Given the description of an element on the screen output the (x, y) to click on. 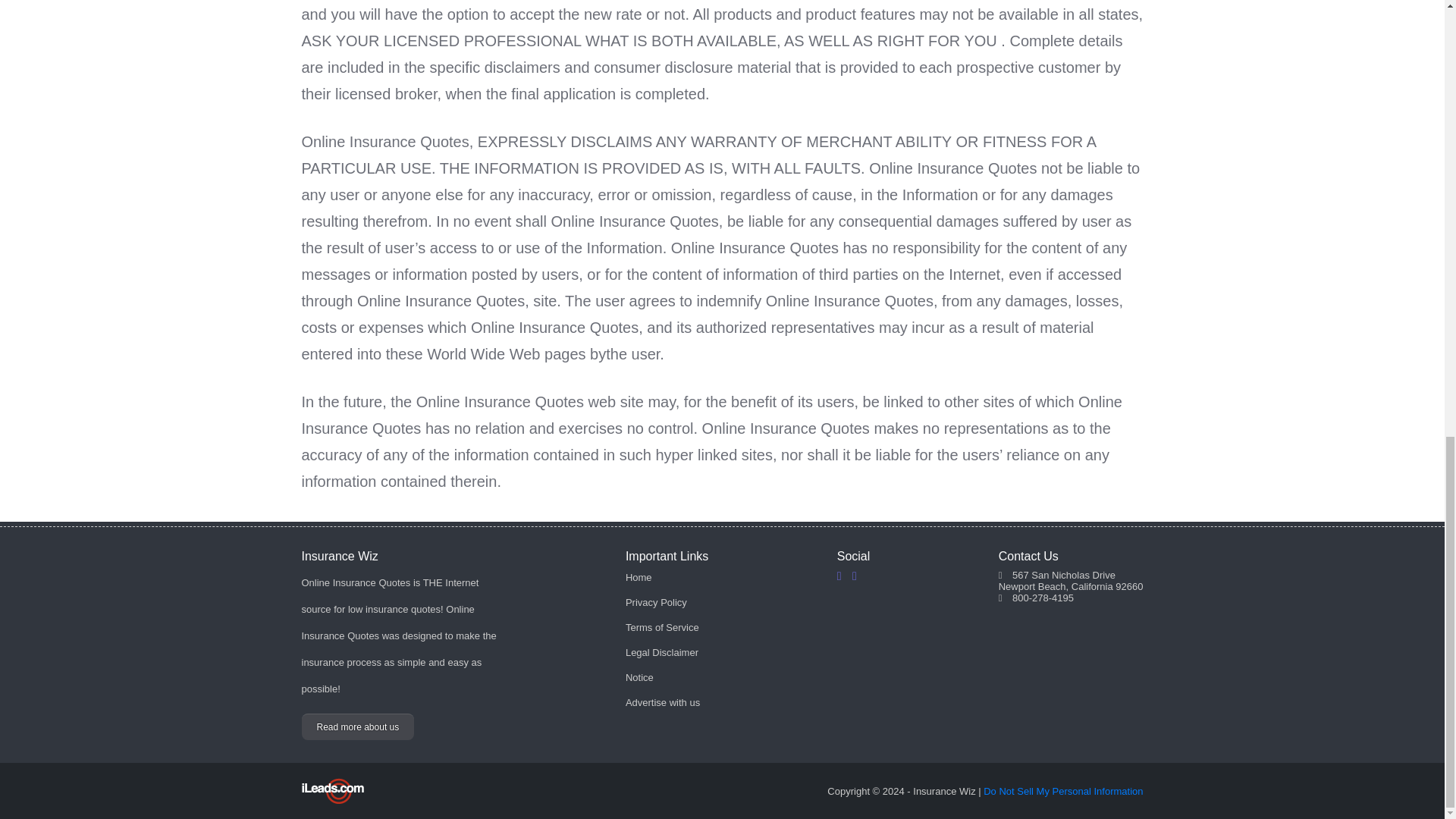
Read more about us (357, 726)
Home (639, 577)
Advertise with us (663, 702)
Privacy Policy (656, 602)
Terms of Service (662, 627)
Insurance Wiz (399, 556)
800-278-4195 (1042, 597)
Do Not Sell My Personal Information (1063, 790)
Notice (639, 677)
Legal Disclaimer (662, 652)
